Given the description of an element on the screen output the (x, y) to click on. 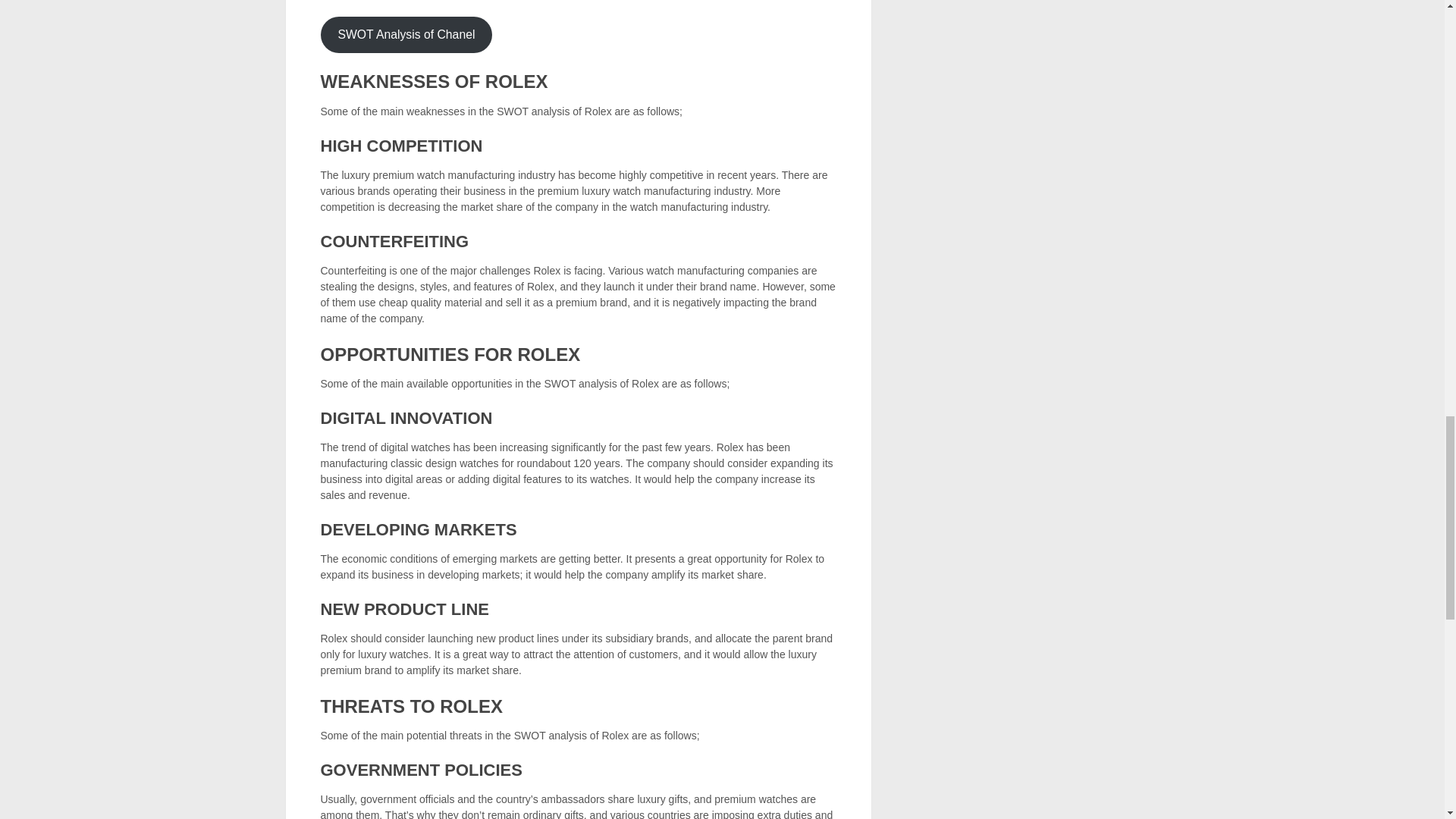
SWOT Analysis of Chanel (406, 35)
